Given the description of an element on the screen output the (x, y) to click on. 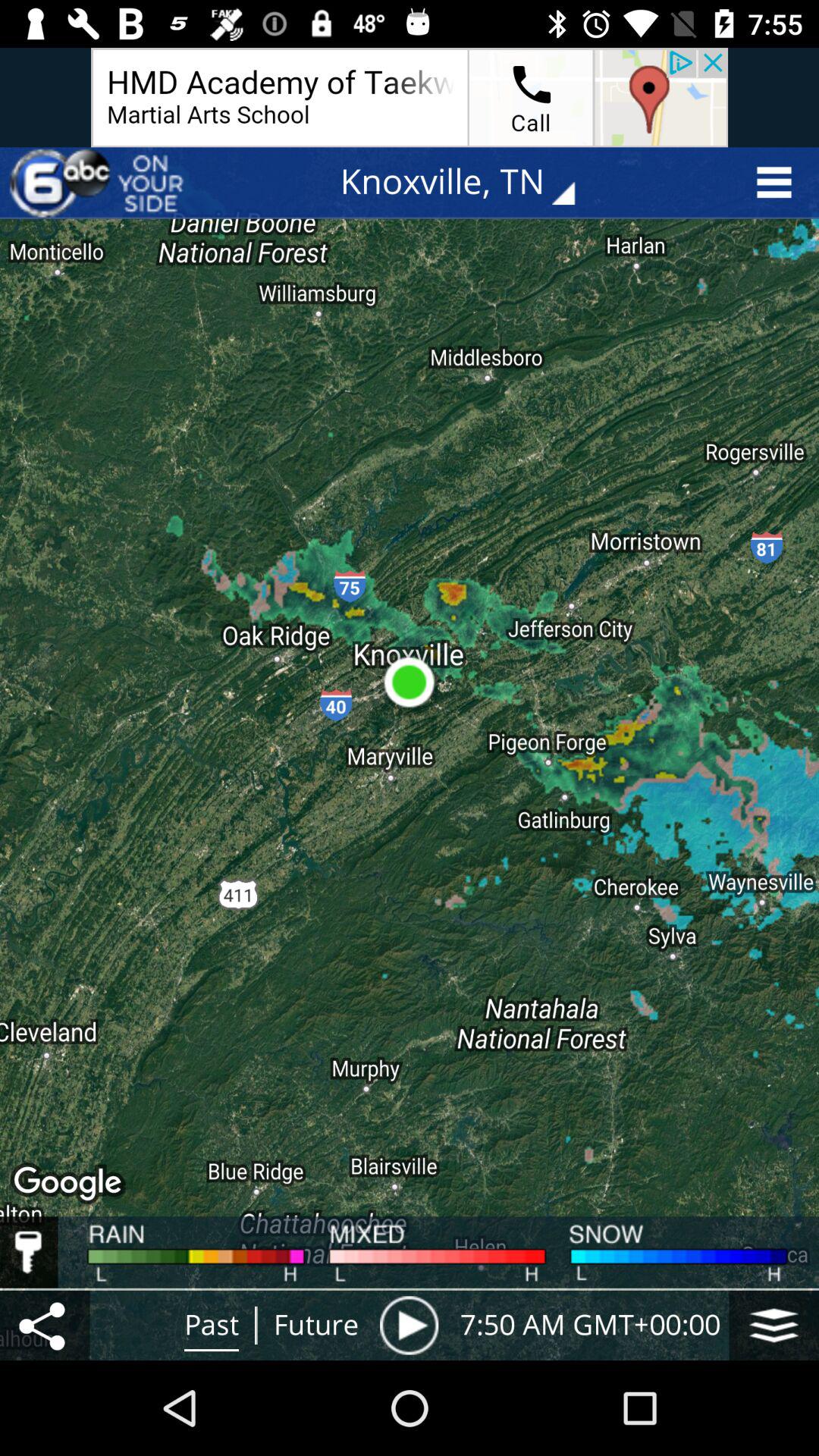
swipe to knoxville, tn icon (468, 182)
